Given the description of an element on the screen output the (x, y) to click on. 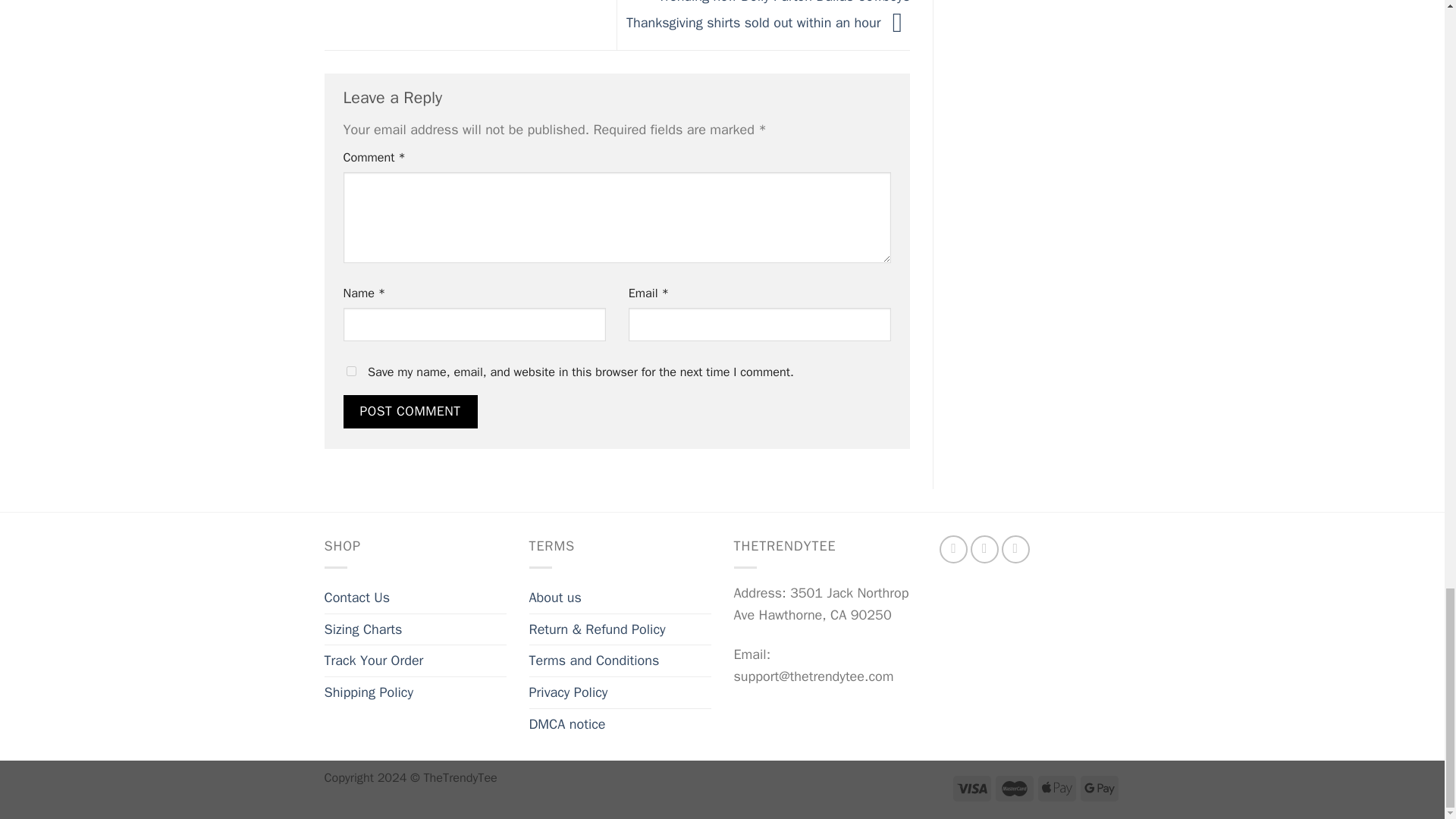
Send us an email (984, 549)
Follow on X (953, 549)
yes (350, 370)
Post Comment (409, 411)
Follow on Pinterest (1015, 549)
